Given the description of an element on the screen output the (x, y) to click on. 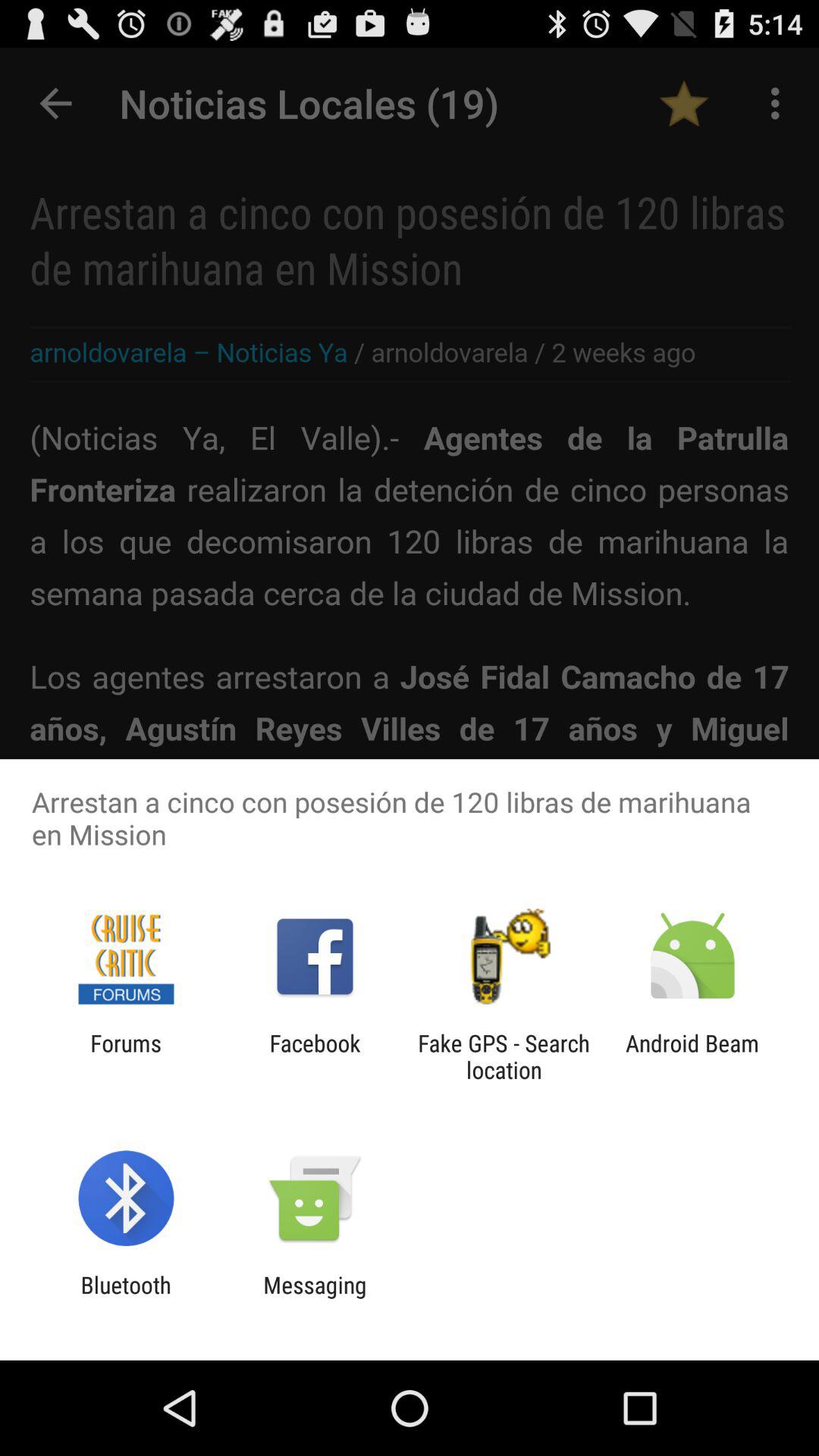
turn on the item next to the facebook (503, 1056)
